Given the description of an element on the screen output the (x, y) to click on. 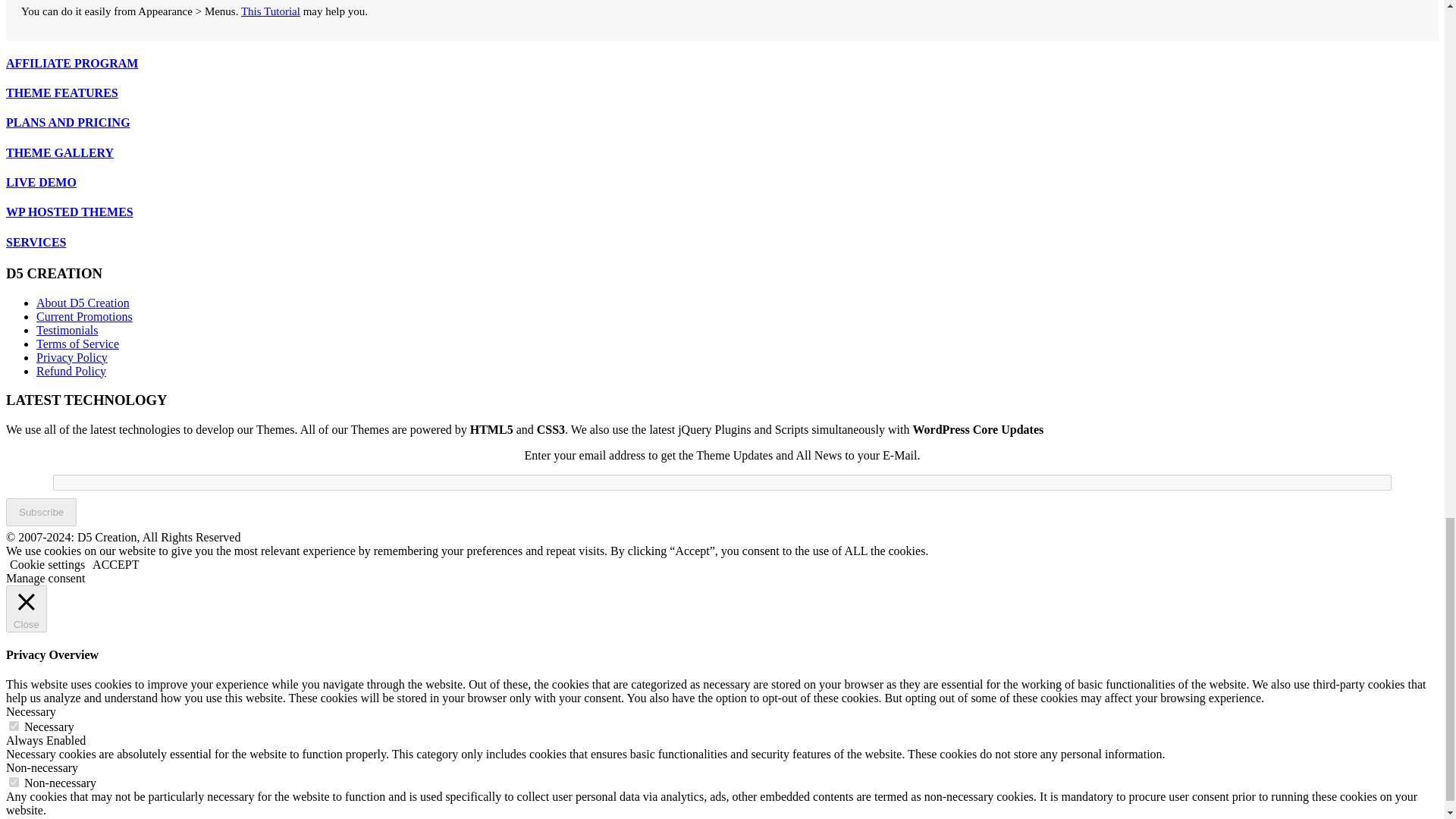
on (13, 782)
Subscribe (41, 511)
on (13, 726)
